Given the description of an element on the screen output the (x, y) to click on. 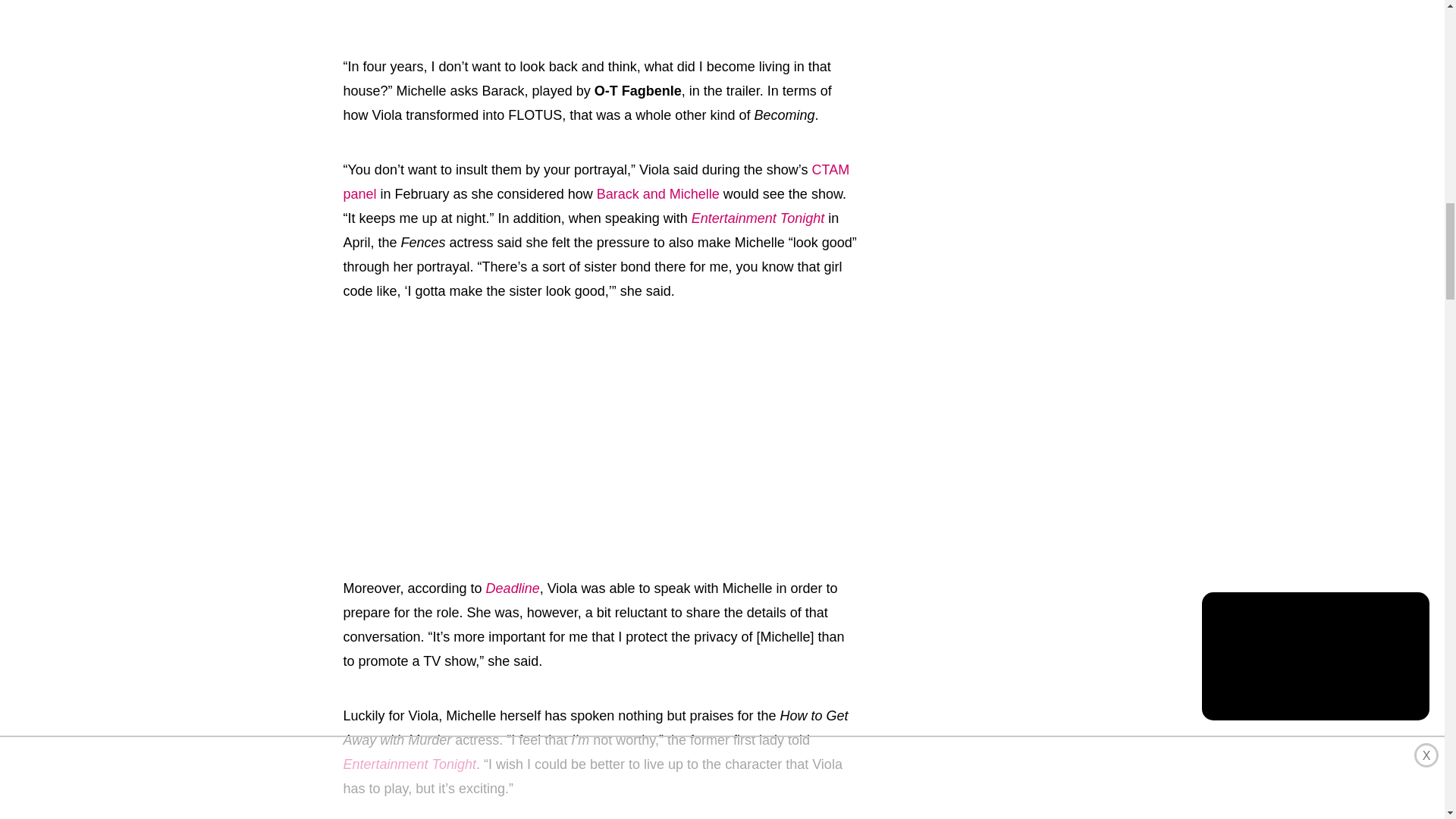
3rd party ad content (600, 435)
